Given the description of an element on the screen output the (x, y) to click on. 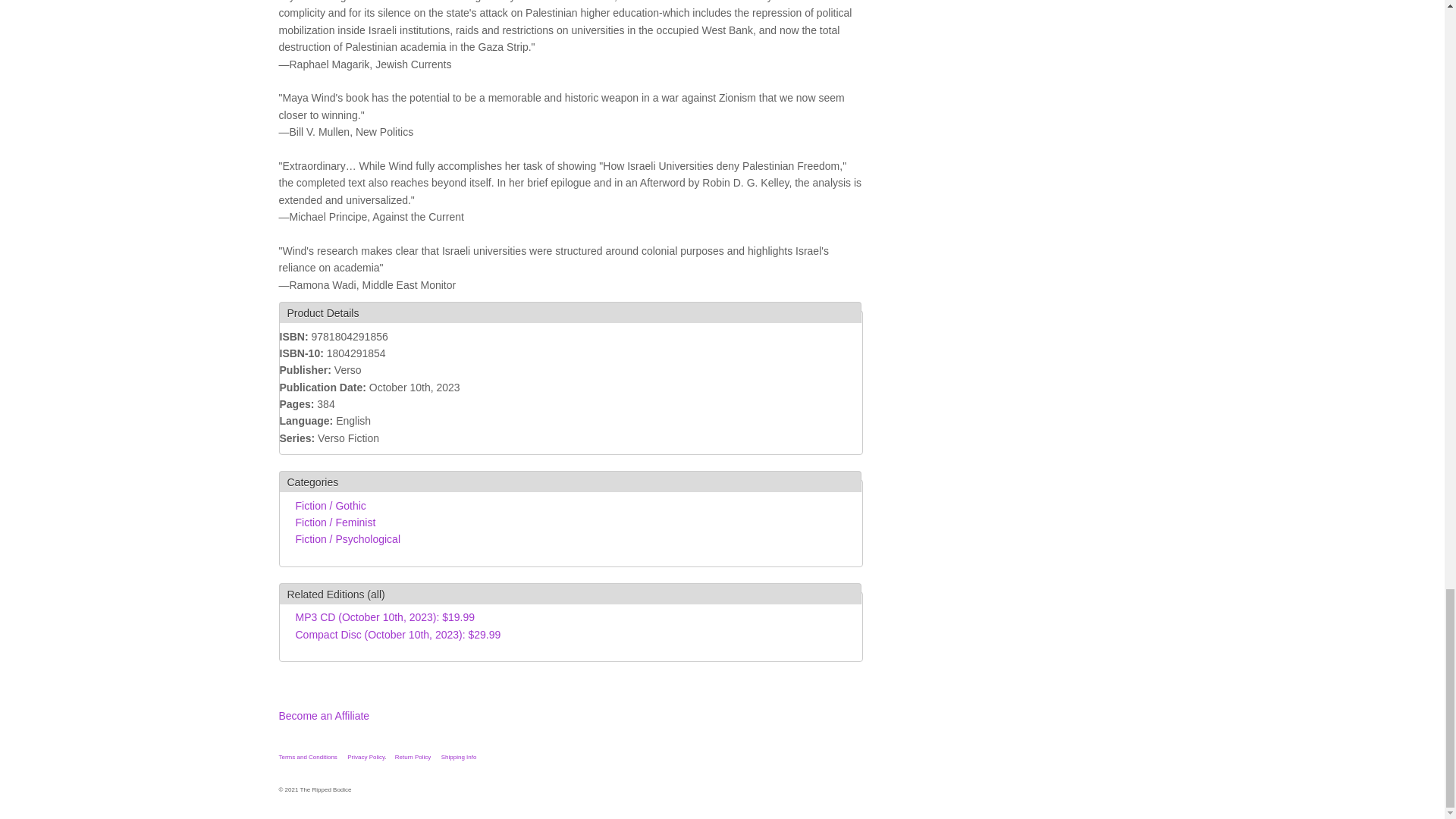
Become an Affiliate (324, 715)
Privacy Policy (365, 756)
Terms and Conditions (308, 756)
